Given the description of an element on the screen output the (x, y) to click on. 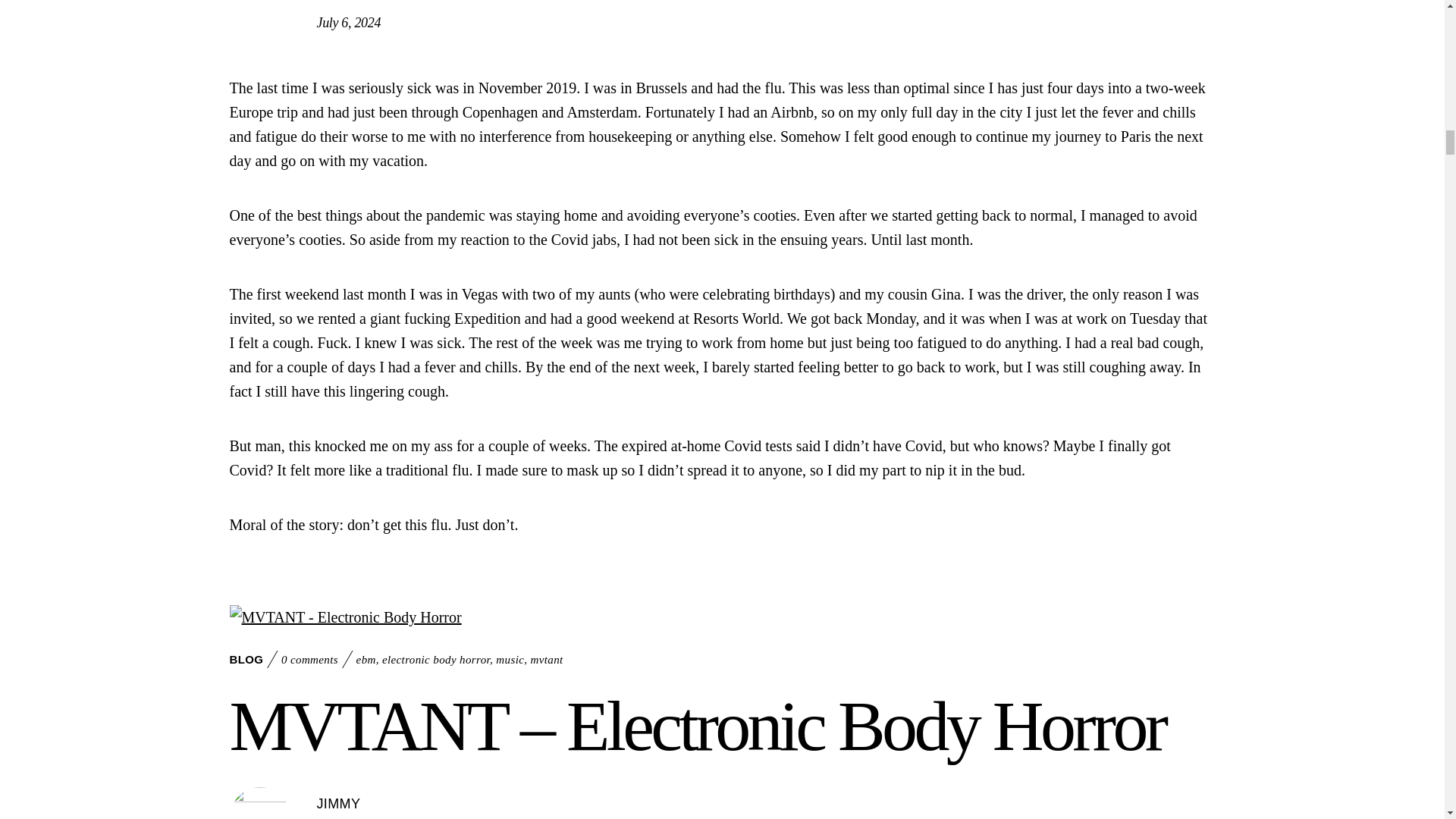
0 comments (309, 659)
music (510, 659)
mvtant (545, 659)
electronic body horror (435, 659)
ebm (365, 659)
JIMMY (339, 0)
MVTANT - Electronic Body Horror (344, 617)
JIMMY (339, 803)
BLOG (245, 658)
